Given the description of an element on the screen output the (x, y) to click on. 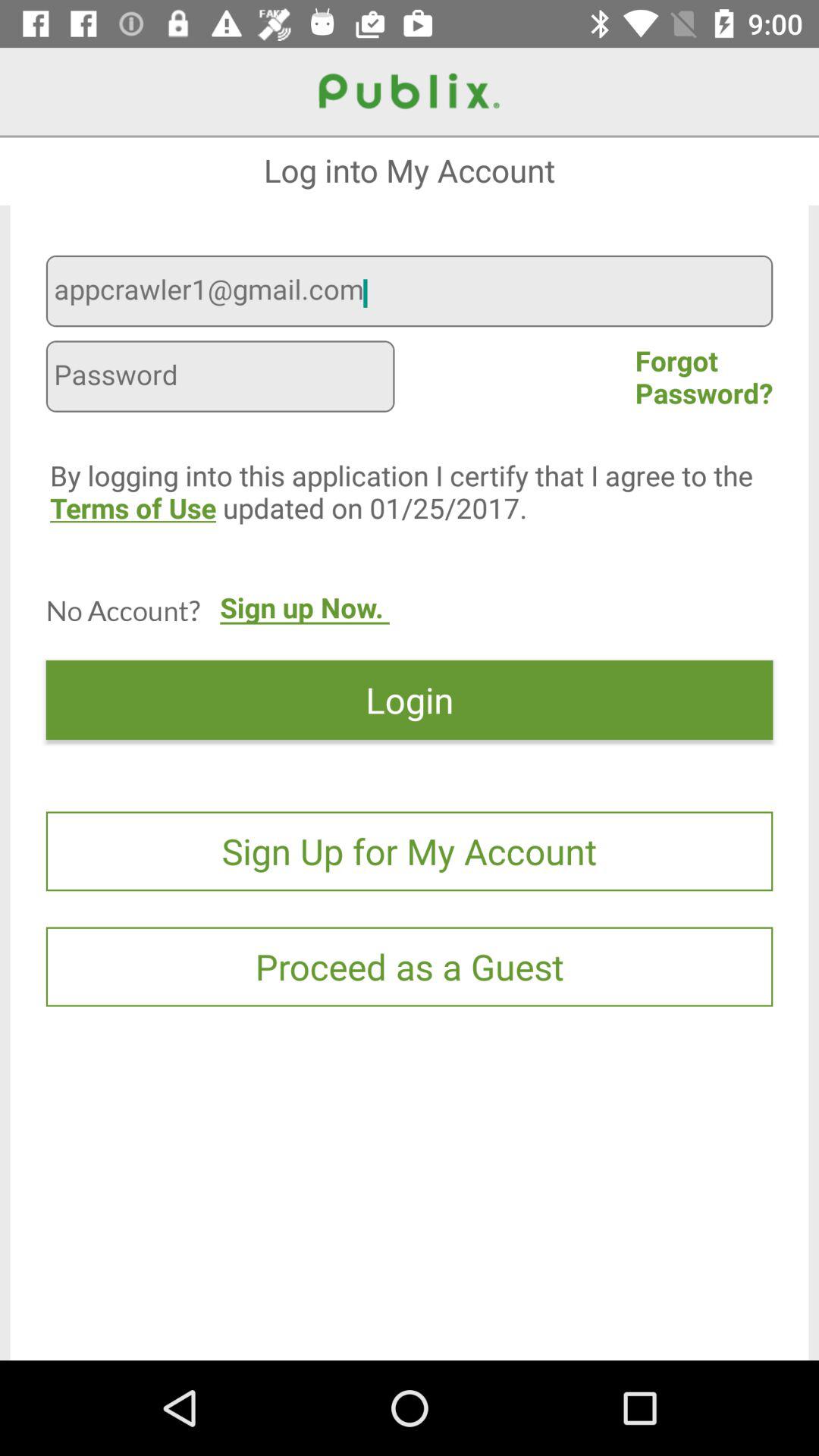
click item next to the forgot
password? item (220, 378)
